Given the description of an element on the screen output the (x, y) to click on. 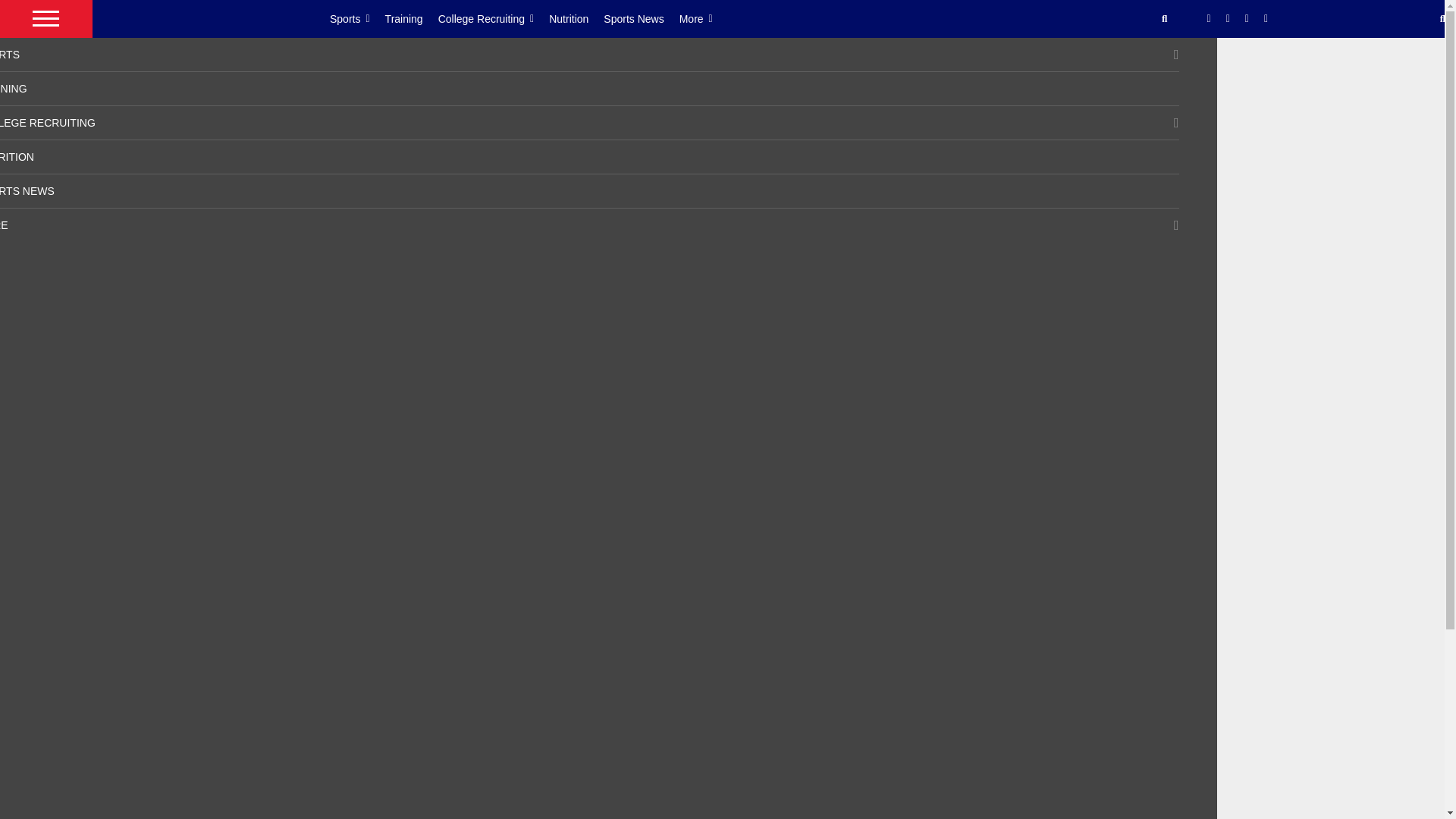
Sports (357, 18)
Training (411, 18)
Nutrition (576, 18)
Sports News (641, 18)
More (703, 18)
SPORTS (10, 54)
College Recruiting (494, 18)
